Given the description of an element on the screen output the (x, y) to click on. 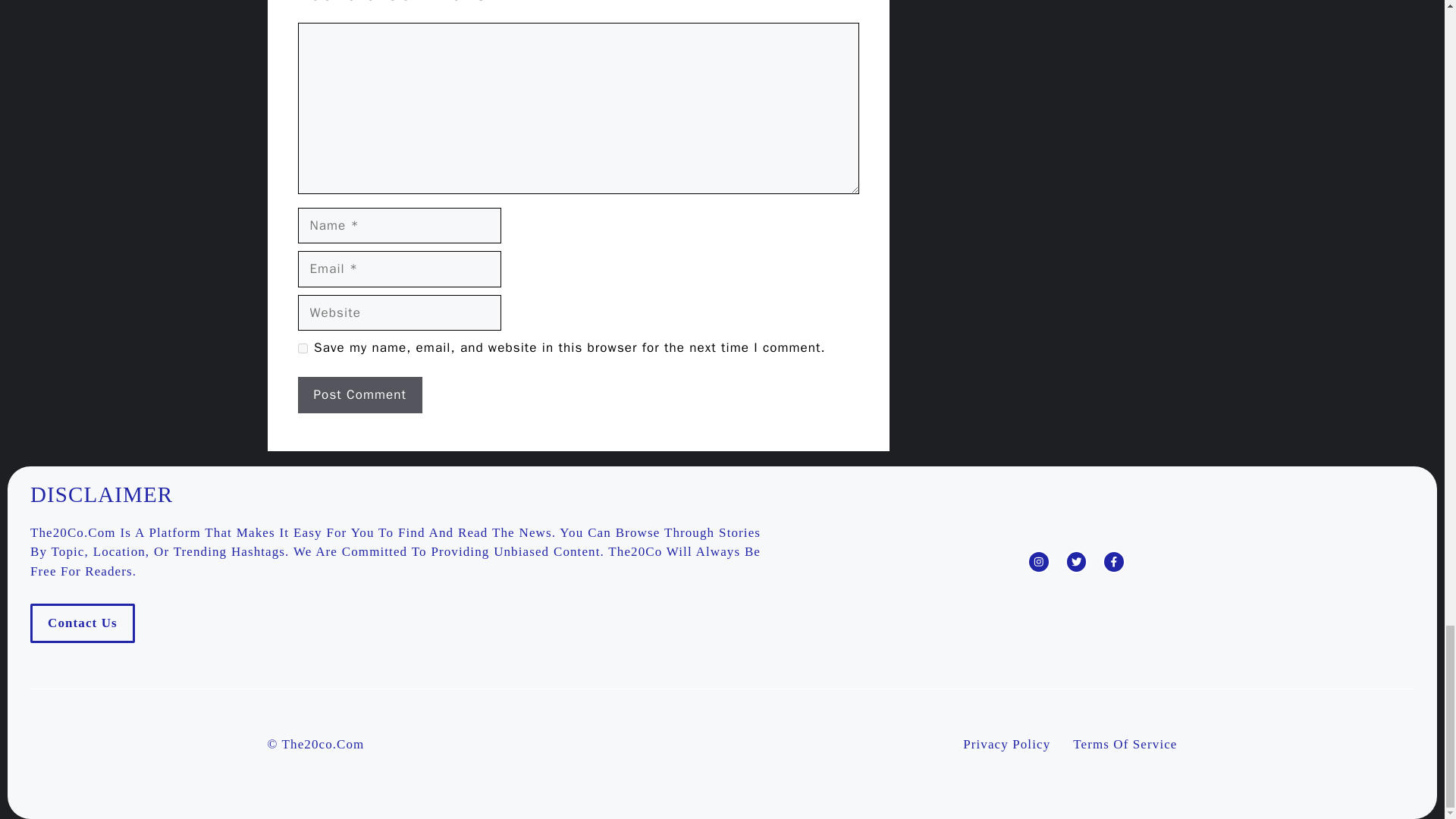
Post Comment (359, 394)
Post Comment (359, 394)
yes (302, 347)
